Given the description of an element on the screen output the (x, y) to click on. 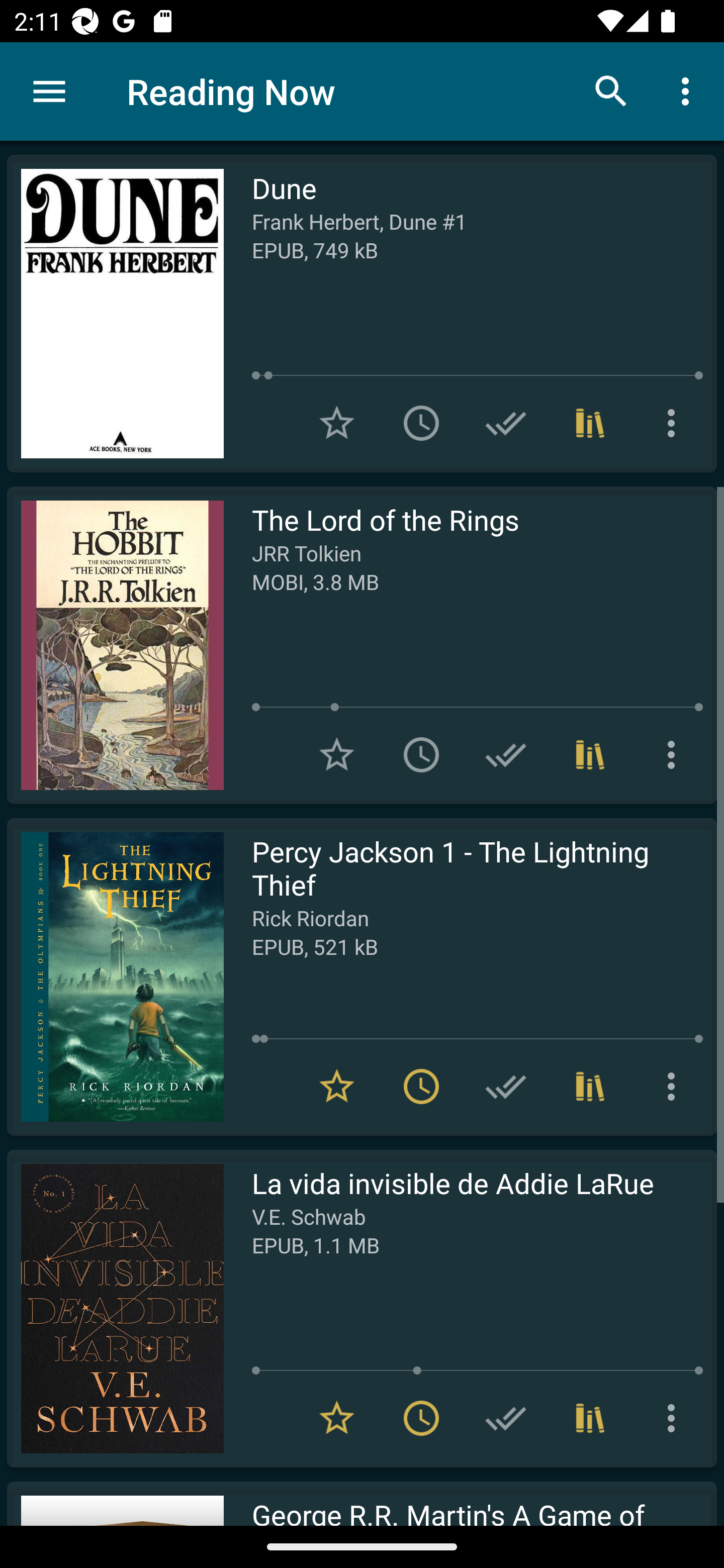
Menu (49, 91)
Search books & documents (611, 90)
More options (688, 90)
Read Dune (115, 313)
Add to Favorites (336, 423)
Add to To read (421, 423)
Add to Have read (505, 423)
Collections (1) (590, 423)
More options (674, 423)
Read The Lord of the Rings (115, 645)
Add to Favorites (336, 753)
Add to To read (421, 753)
Add to Have read (505, 753)
Collections (1) (590, 753)
More options (674, 753)
Read Percy Jackson 1 - The Lightning Thief (115, 976)
Remove from Favorites (336, 1086)
Remove from To read (421, 1086)
Add to Have read (505, 1086)
Collections (1) (590, 1086)
More options (674, 1086)
Read La vida invisible de Addie LaRue (115, 1308)
Remove from Favorites (336, 1417)
Remove from To read (421, 1417)
Add to Have read (505, 1417)
Collections (1) (590, 1417)
More options (674, 1417)
